Given the description of an element on the screen output the (x, y) to click on. 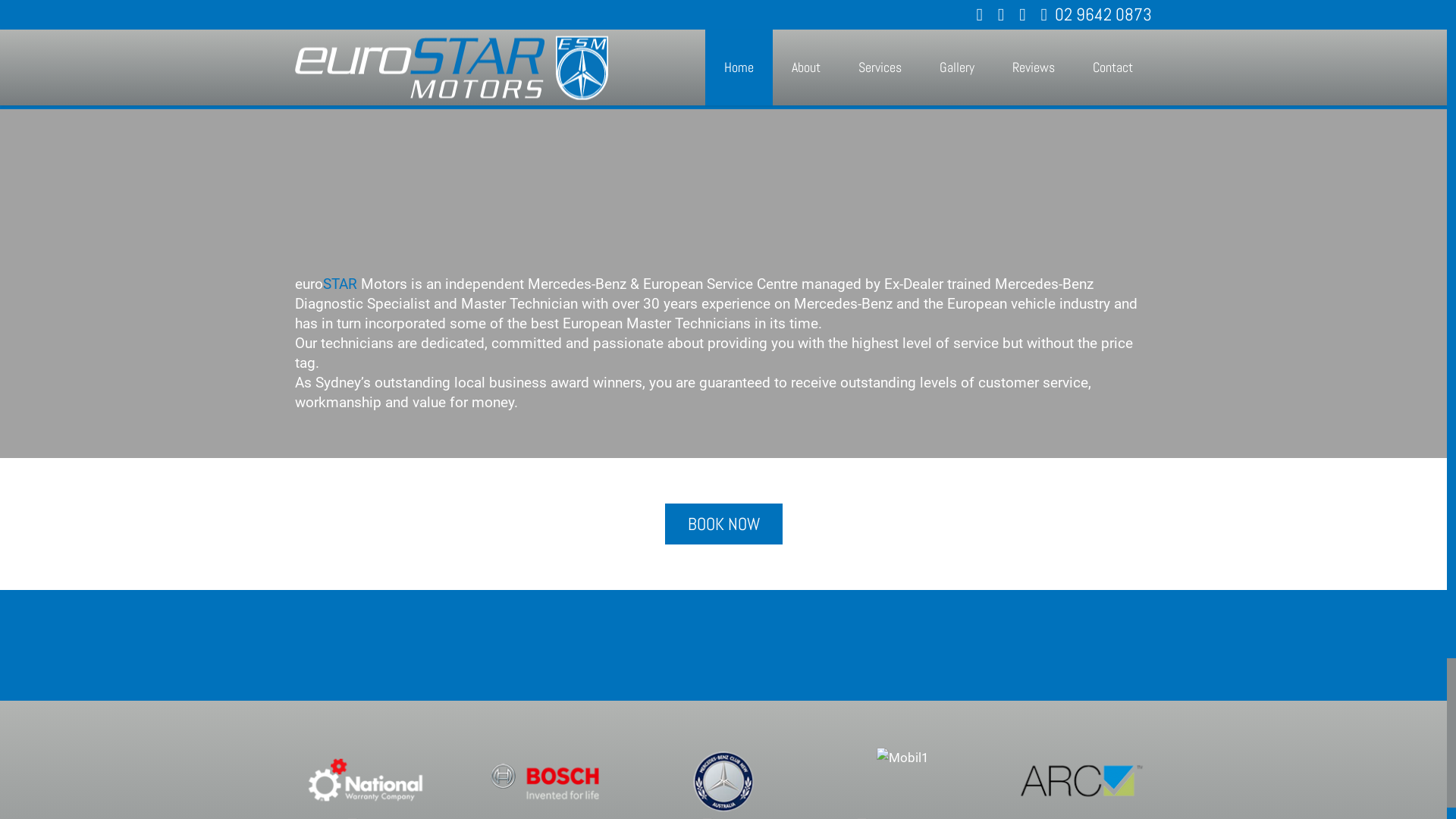
Reviews Element type: text (1033, 67)
SYDNEY'S AWARD WINNING
SERVICE CENTRE Element type: text (1425, 84)
Services Element type: text (879, 67)
Contact Element type: text (1112, 67)
STATE OF THE ART
WORKSHOP & EQUIPMENT Element type: text (1404, 84)
  02 9642 0873 Element type: text (1096, 14)
MERCEDES-BENZ
SPECIALIST Element type: text (1340, 84)
INDEPENDENT
MERCEDES-BENZ
& EUROPEAN SERVICE CENTRE Element type: text (1319, 84)
Gallery Element type: text (956, 67)
LOG BOOK SERVICING
THAT WILL NOT AFFECT YOUR WARRANTY Element type: text (1361, 84)
About Element type: text (805, 67)
BOOK NOW Element type: text (722, 523)
Home Element type: text (738, 67)
